Given the description of an element on the screen output the (x, y) to click on. 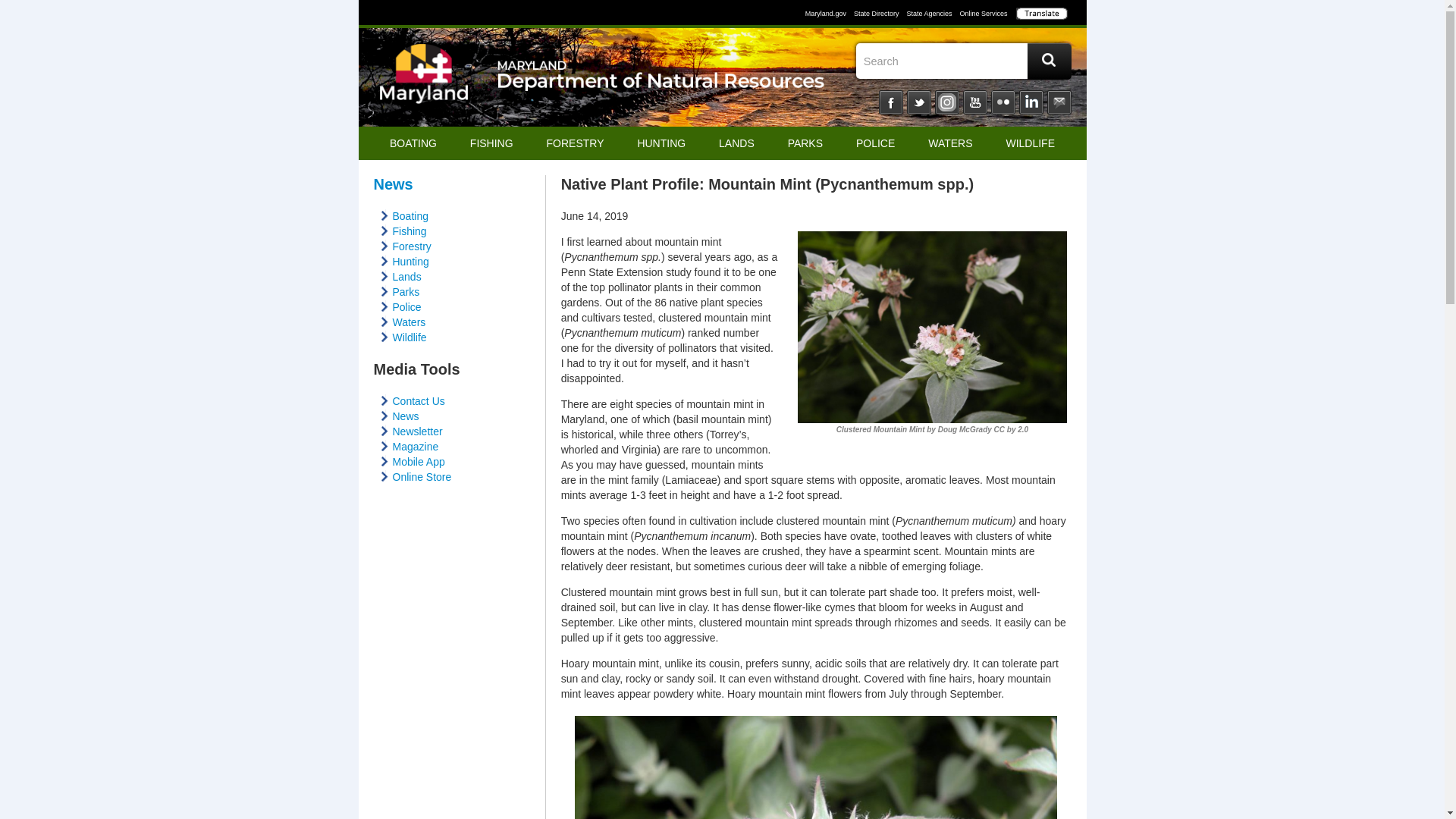
Twitter (919, 102)
WATERS (949, 142)
Hunting (411, 261)
Fishing (409, 231)
LinkedIn (1031, 102)
Twitter (919, 102)
POLICE (875, 142)
Flickr (1002, 102)
WILDLIFE (1030, 142)
Instagram (946, 102)
Search (960, 60)
Flickr (1002, 102)
Contact Us (419, 400)
Maryland.gov (827, 13)
Parks (406, 291)
